Given the description of an element on the screen output the (x, y) to click on. 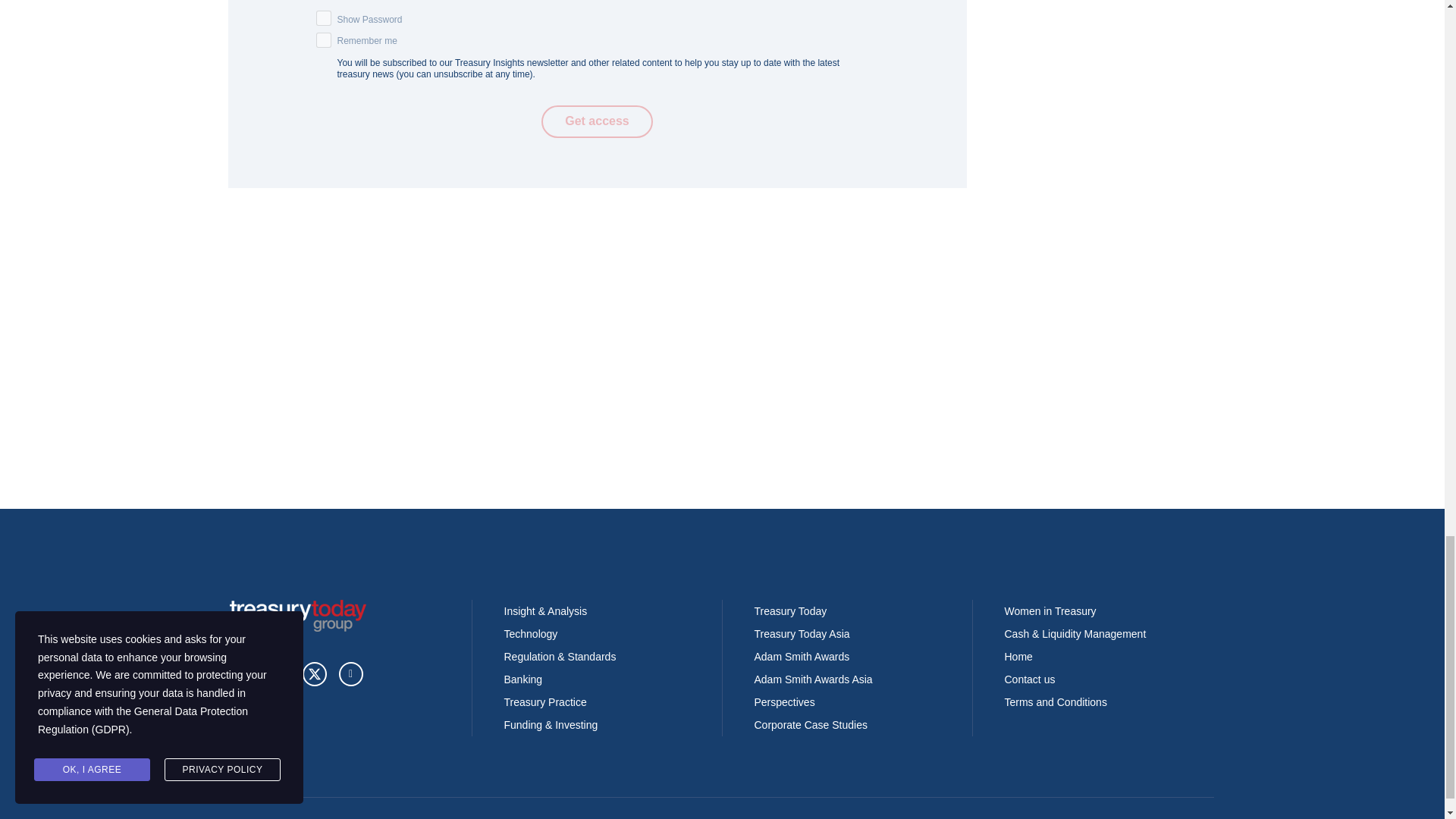
on (322, 39)
on (322, 17)
